Given the description of an element on the screen output the (x, y) to click on. 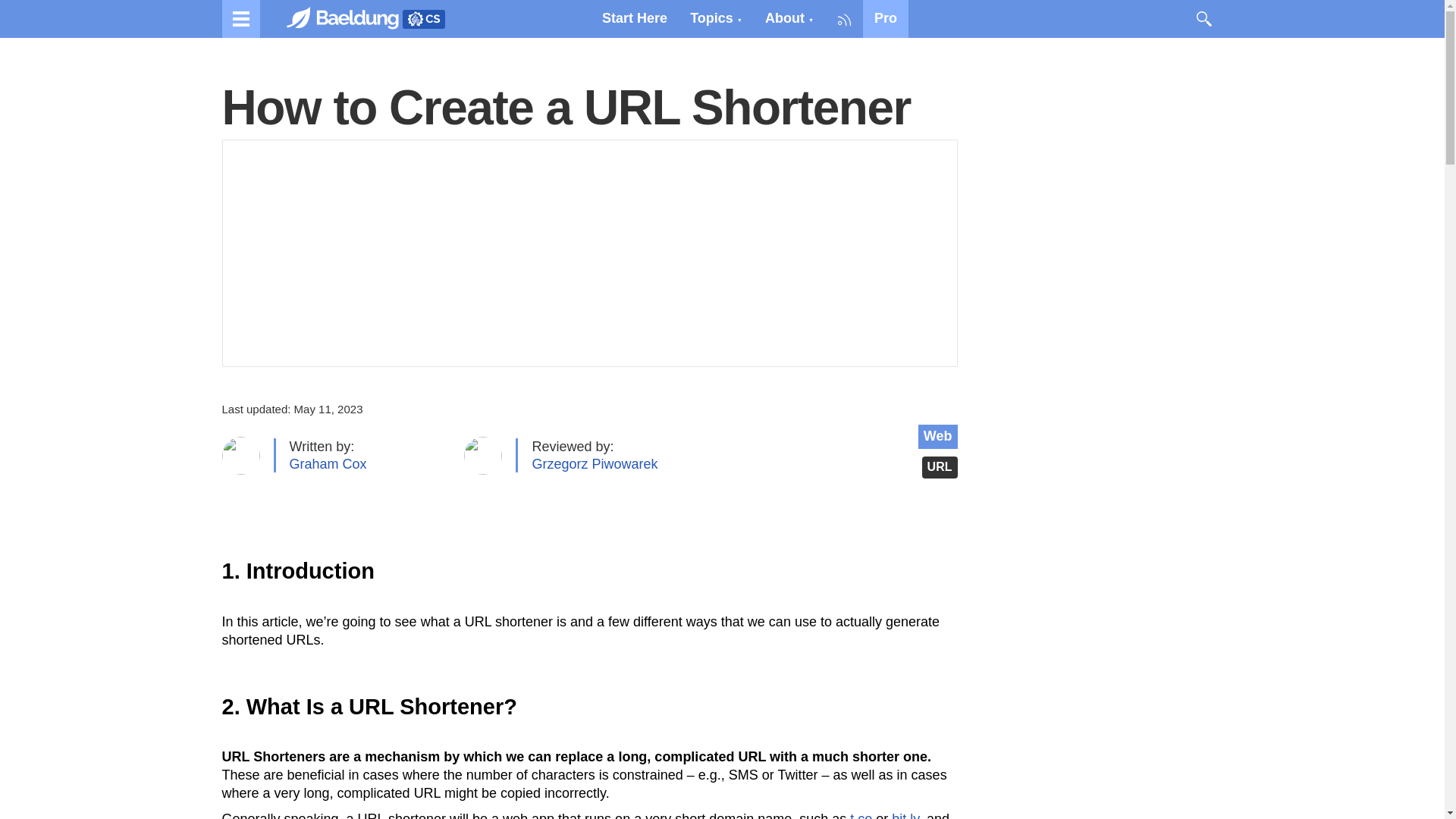
bit.ly (904, 815)
Grzegorz Piwowarek (594, 463)
Pro (885, 18)
Baeldung (350, 17)
t.co (861, 815)
Baeldung (422, 18)
Posts by Graham Cox (327, 463)
Tutorials (240, 18)
Start Here (634, 18)
RSS (844, 18)
